Given the description of an element on the screen output the (x, y) to click on. 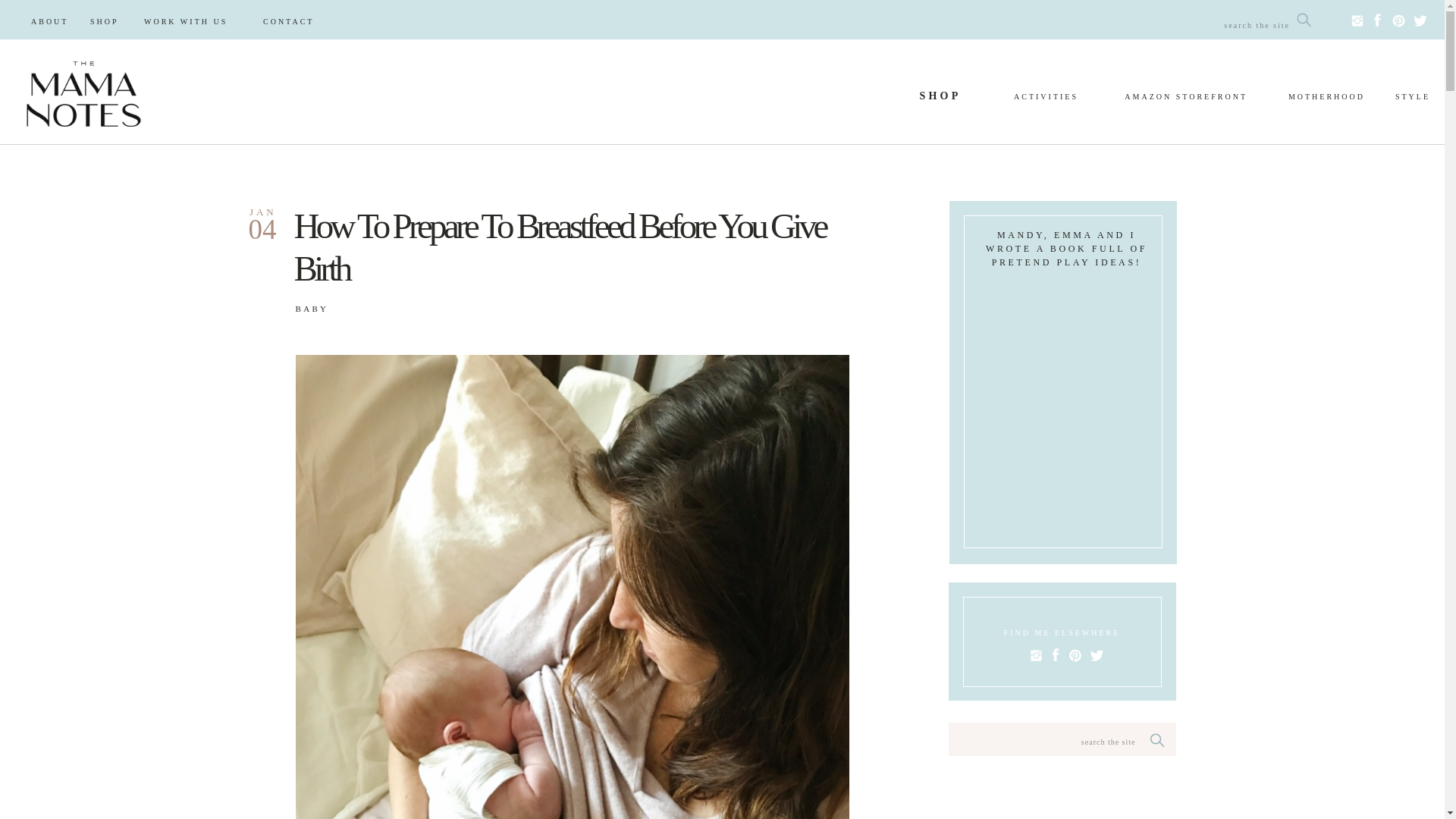
AMAZON STOREFRONT (1168, 96)
WORK WITH US (195, 21)
STYLE (1408, 96)
SHOP (940, 99)
SHOP (109, 21)
MANDY, EMMA AND I WROTE A BOOK FULL OF PRETEND PLAY IDEAS! (1067, 241)
CONTACT (297, 21)
MOTHERHOOD (1316, 96)
ACTIVITIES (1042, 96)
BABY (312, 307)
